Given the description of an element on the screen output the (x, y) to click on. 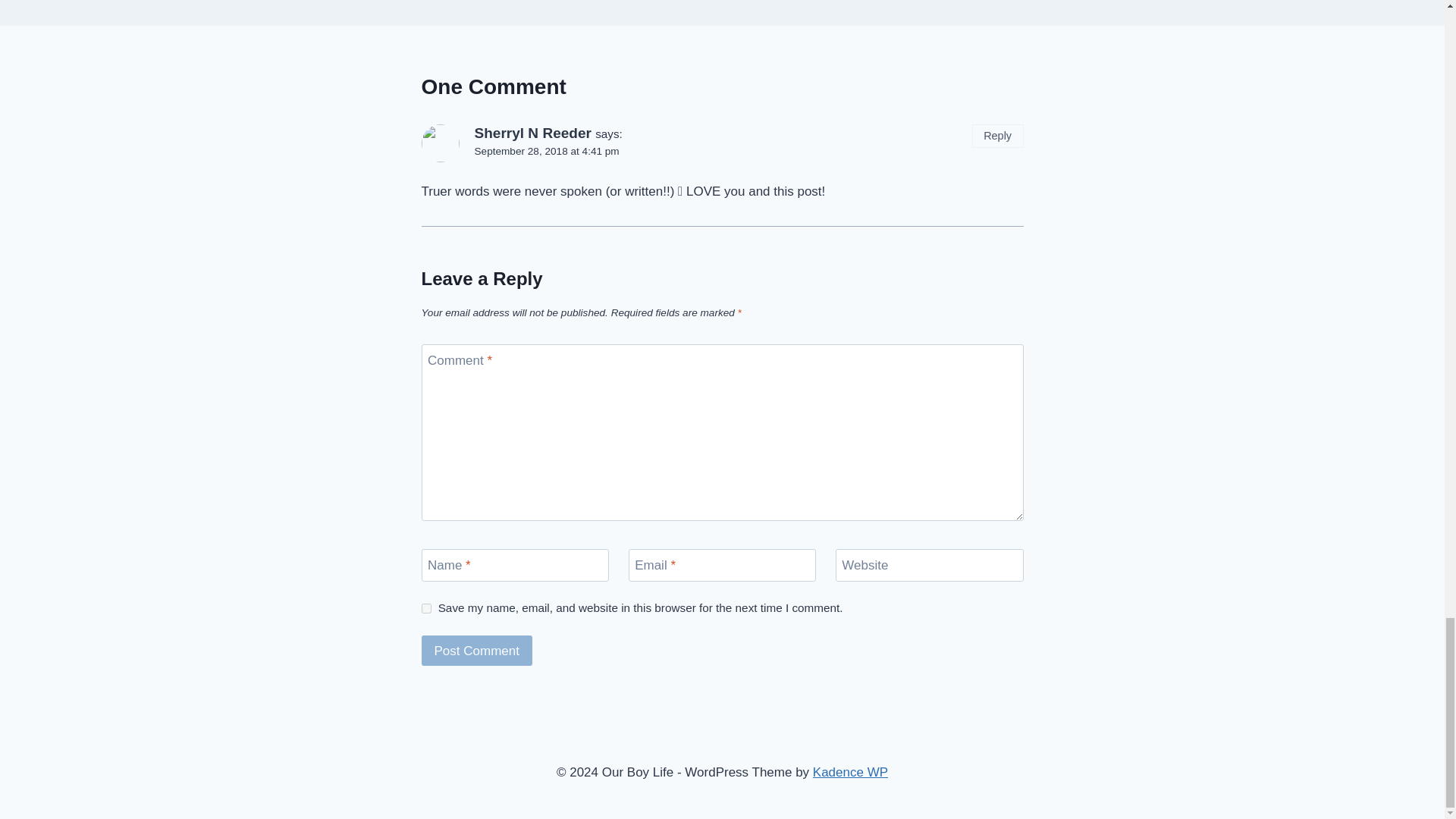
Post Comment (477, 650)
yes (426, 608)
